Given the description of an element on the screen output the (x, y) to click on. 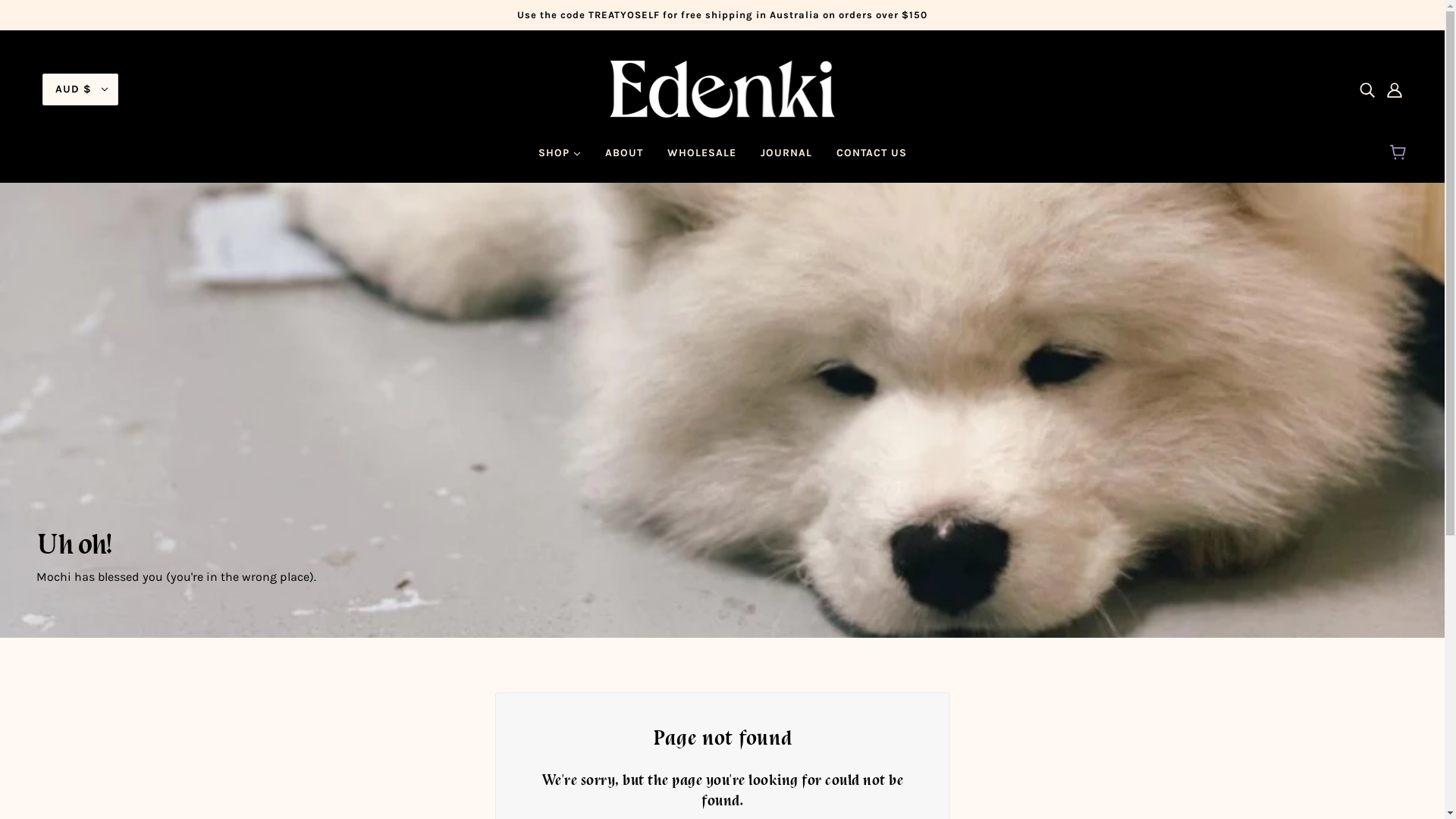
CONTACT US Element type: text (870, 158)
edenki Element type: hover (722, 87)
ABOUT Element type: text (624, 158)
SHOP Element type: text (559, 158)
WHOLESALE Element type: text (701, 158)
JOURNAL Element type: text (785, 158)
